Given the description of an element on the screen output the (x, y) to click on. 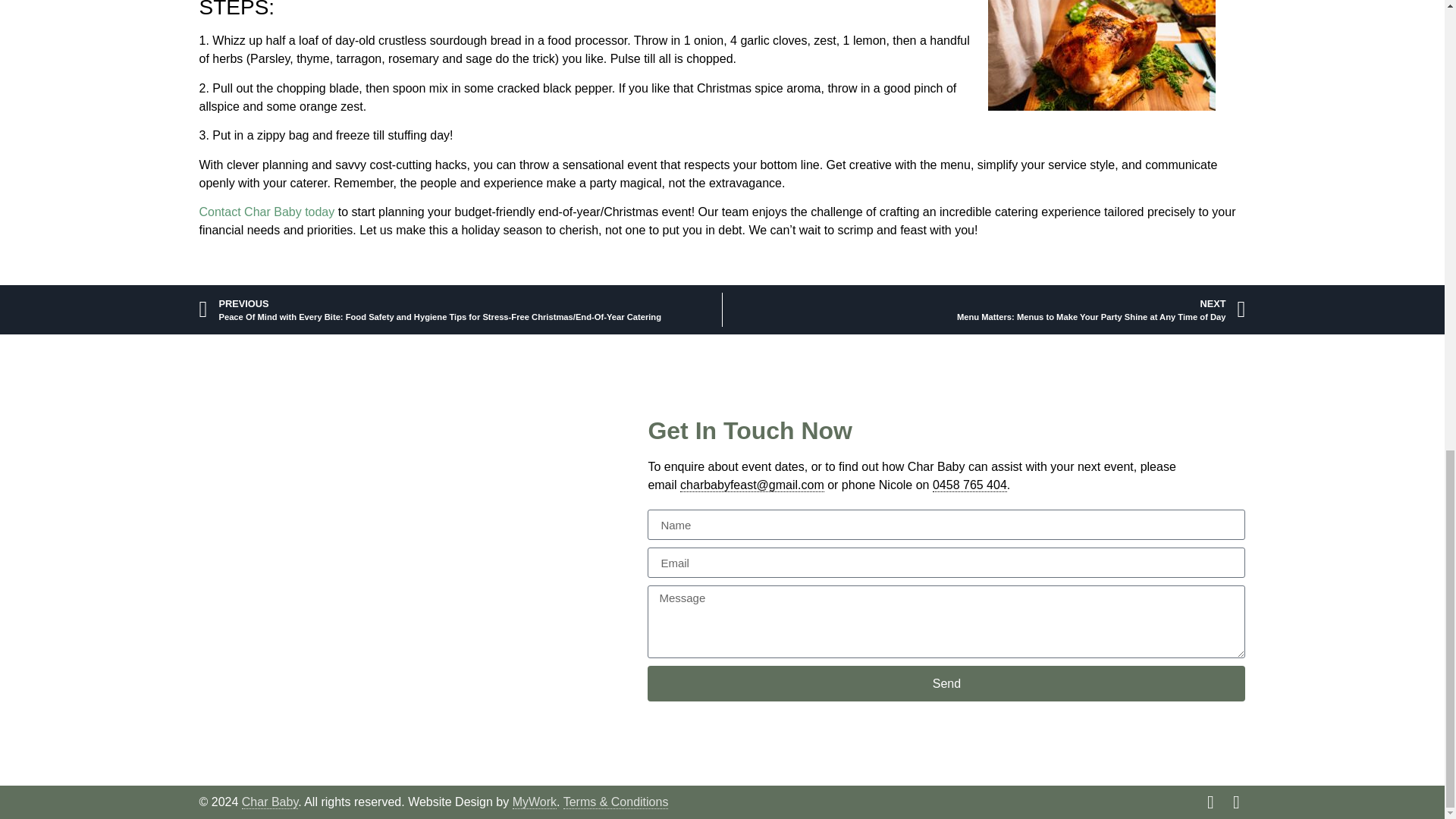
0458 765 404 (970, 485)
MyWork (534, 802)
Char Baby (269, 802)
Contact Char Baby today (266, 211)
Send (945, 683)
